Given the description of an element on the screen output the (x, y) to click on. 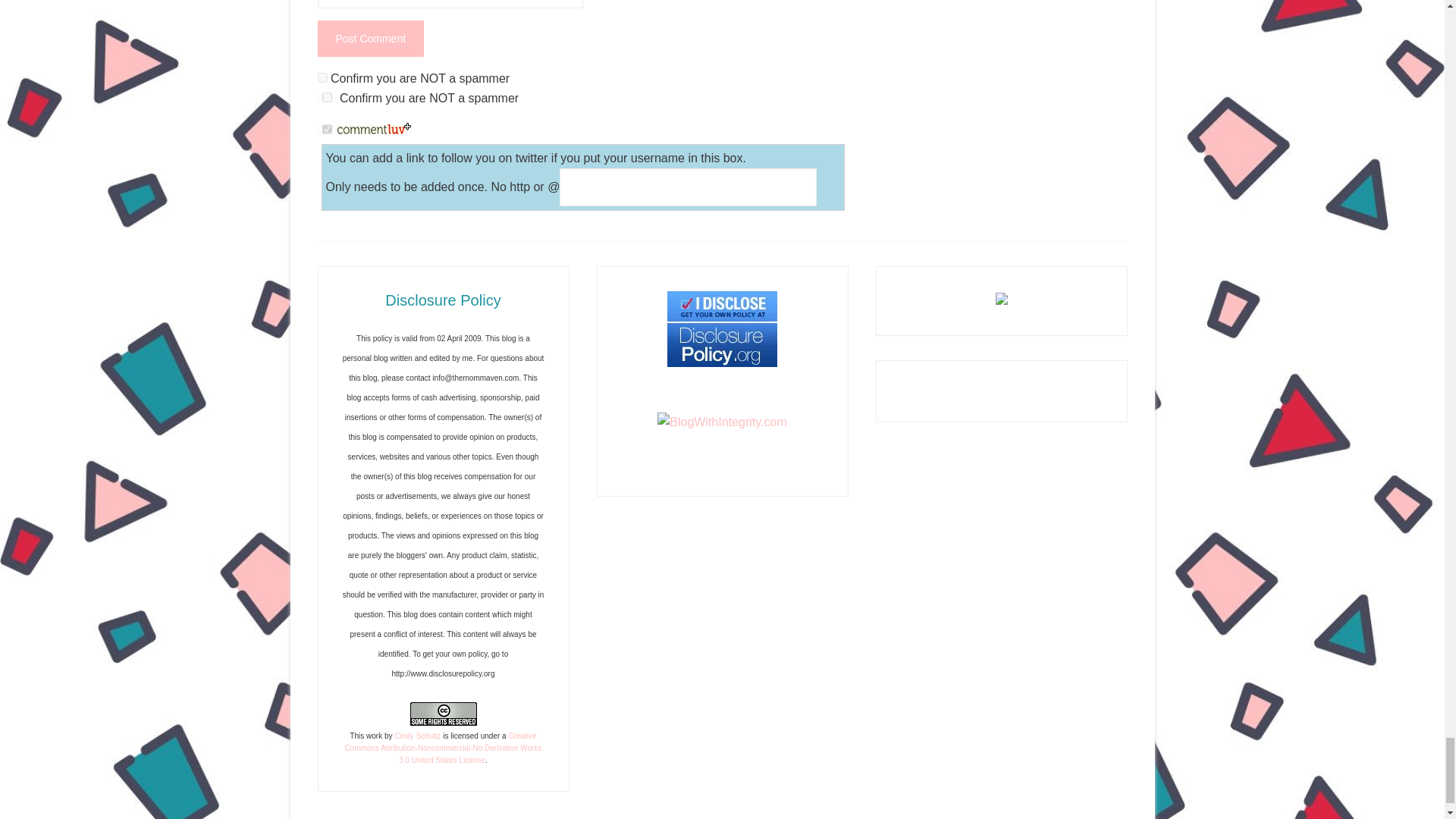
CommentLuv is enabled (374, 129)
Post Comment (370, 38)
on (321, 77)
on (326, 97)
on (326, 129)
